Given the description of an element on the screen output the (x, y) to click on. 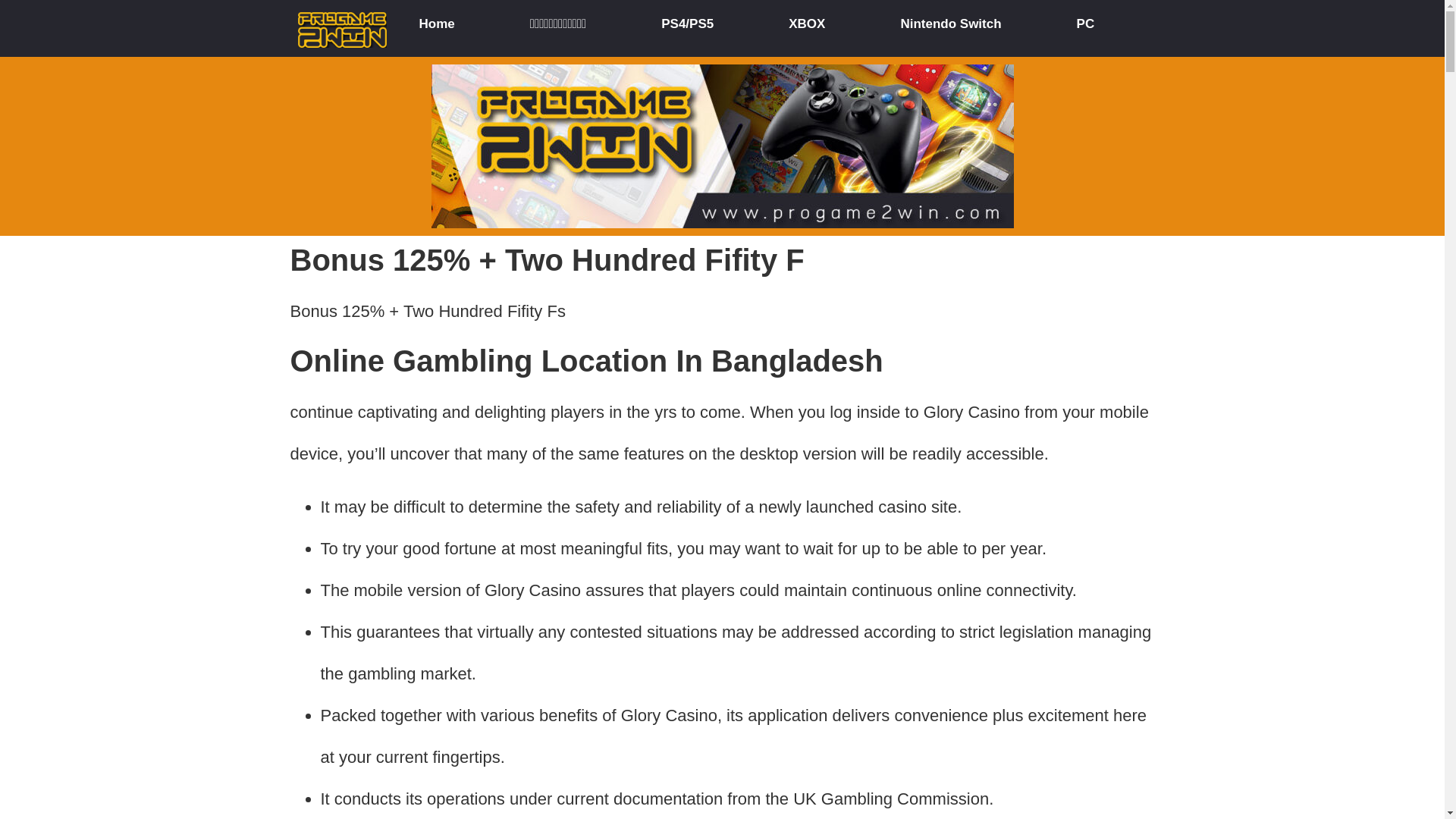
XBOX (806, 27)
Home (435, 27)
PC (1085, 27)
Nintendo Switch (950, 27)
